Given the description of an element on the screen output the (x, y) to click on. 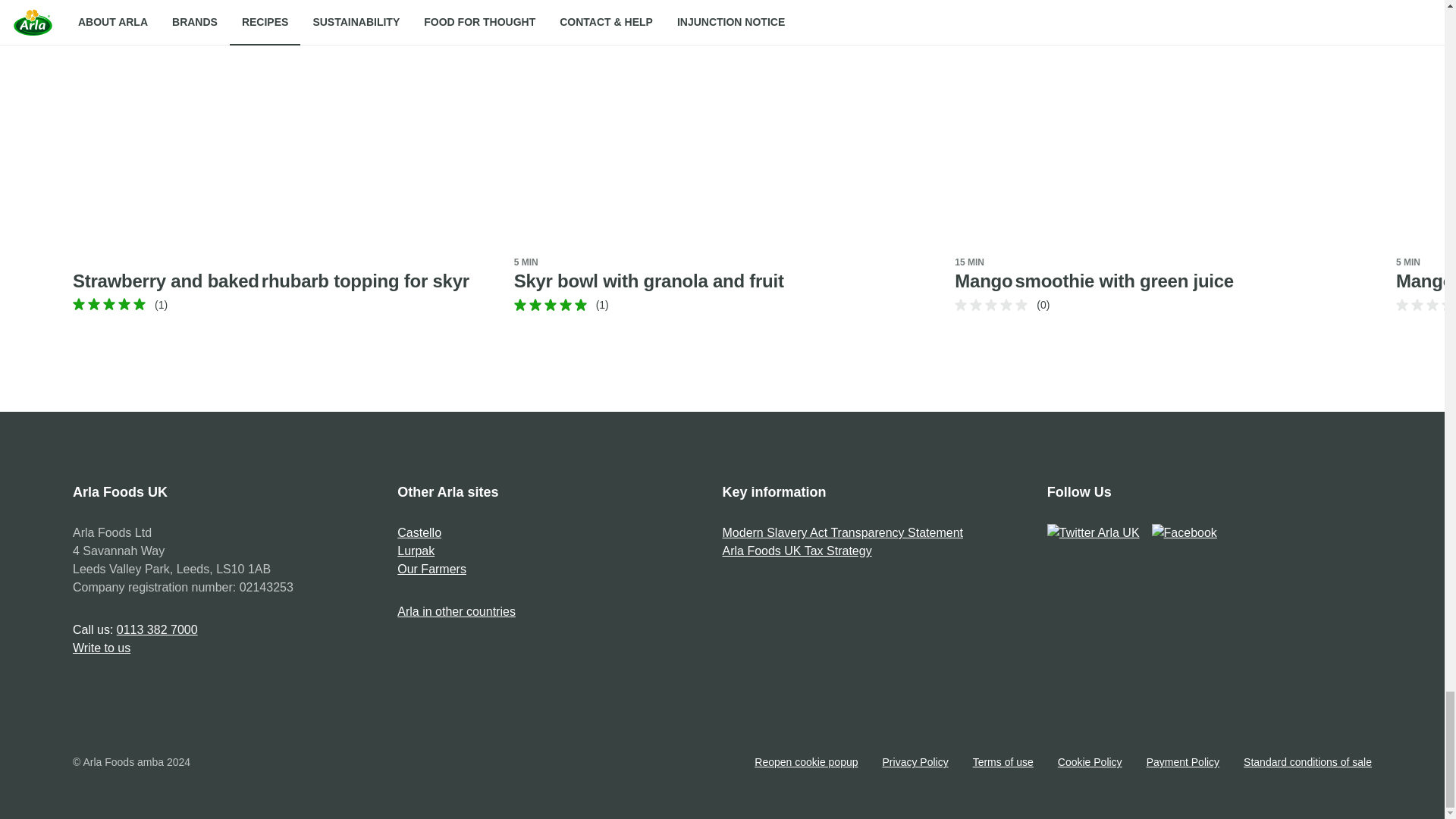
Twitter Arla UK (1093, 532)
Modern Slavery Act Transparency Statement (842, 532)
Arla Foods UK Tax Strategy (796, 550)
Our Farmers (431, 568)
Facebook (1184, 532)
